Given the description of an element on the screen output the (x, y) to click on. 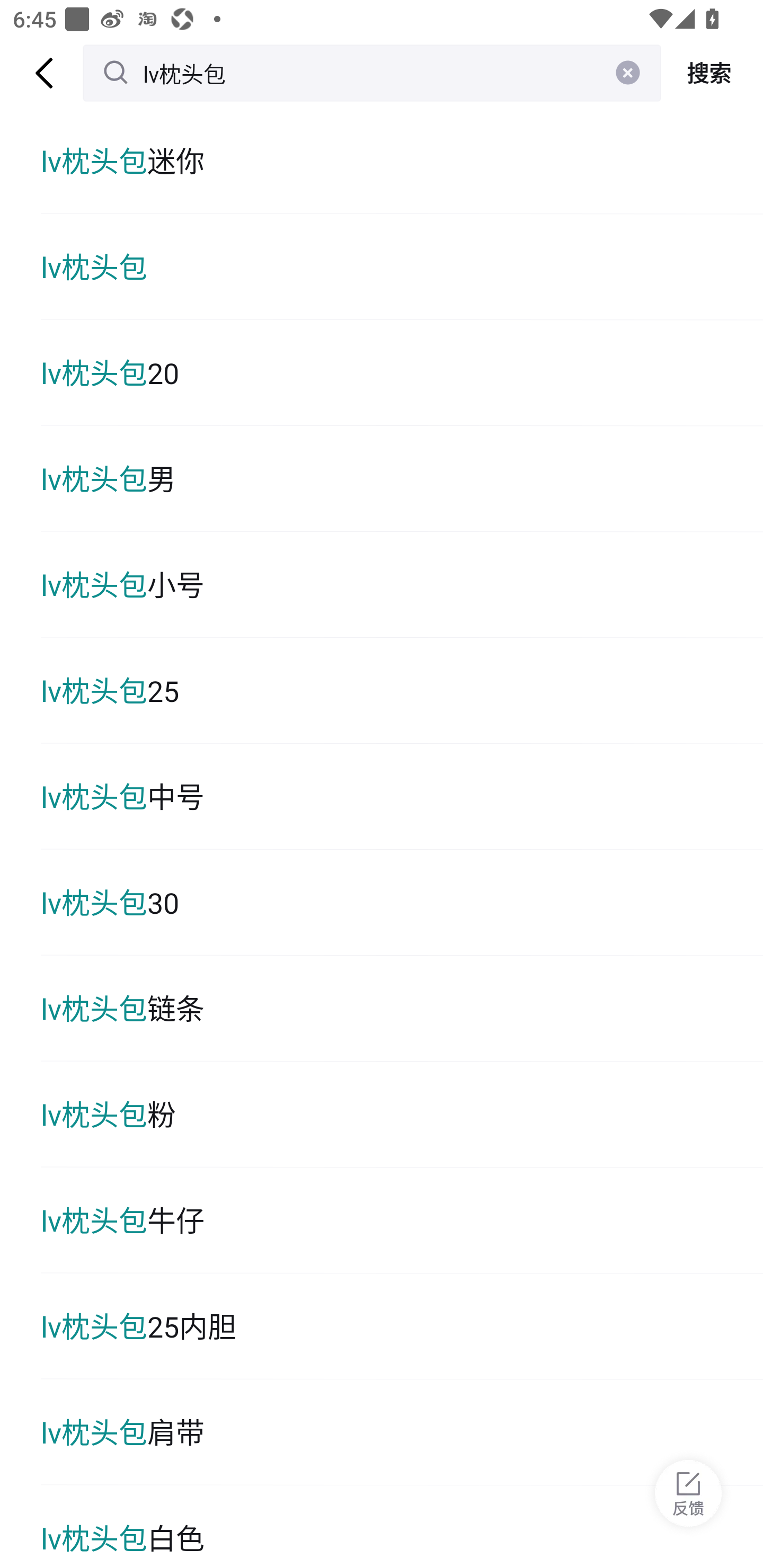
搜索 (712, 72)
lv枕头包 (371, 72)
lv枕头包迷你 (401, 160)
lv枕头包 (401, 266)
lv枕头包20 (401, 372)
lv枕头包男 (401, 478)
lv枕头包小号 (401, 584)
lv枕头包25 (401, 690)
lv枕头包中号 (401, 796)
lv枕头包30 (401, 901)
lv枕头包链条 (401, 1007)
lv枕头包粉 (401, 1114)
lv枕头包牛仔 (401, 1220)
lv枕头包25内胆 (401, 1326)
lv枕头包肩带 (401, 1431)
lv枕头包白色 (401, 1526)
